Given the description of an element on the screen output the (x, y) to click on. 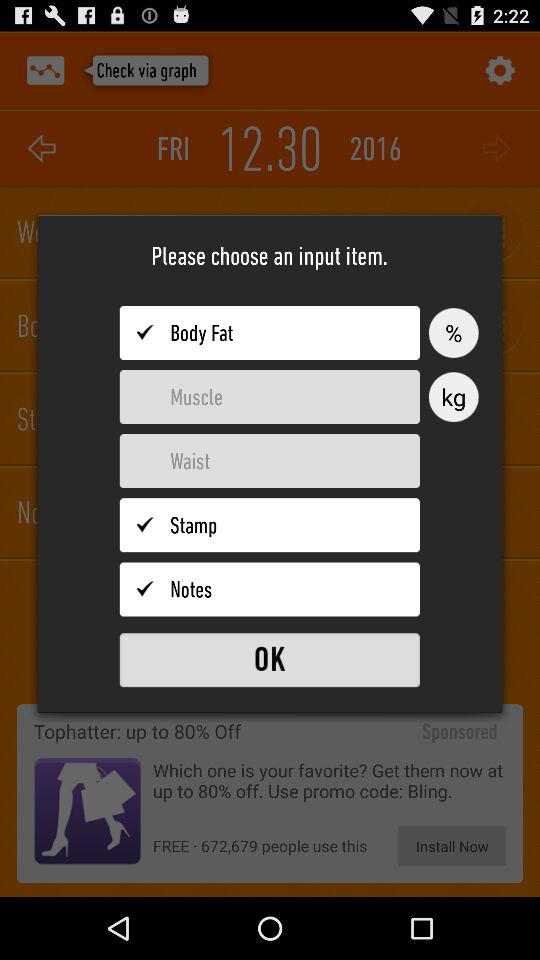
toggle the option (269, 397)
